Given the description of an element on the screen output the (x, y) to click on. 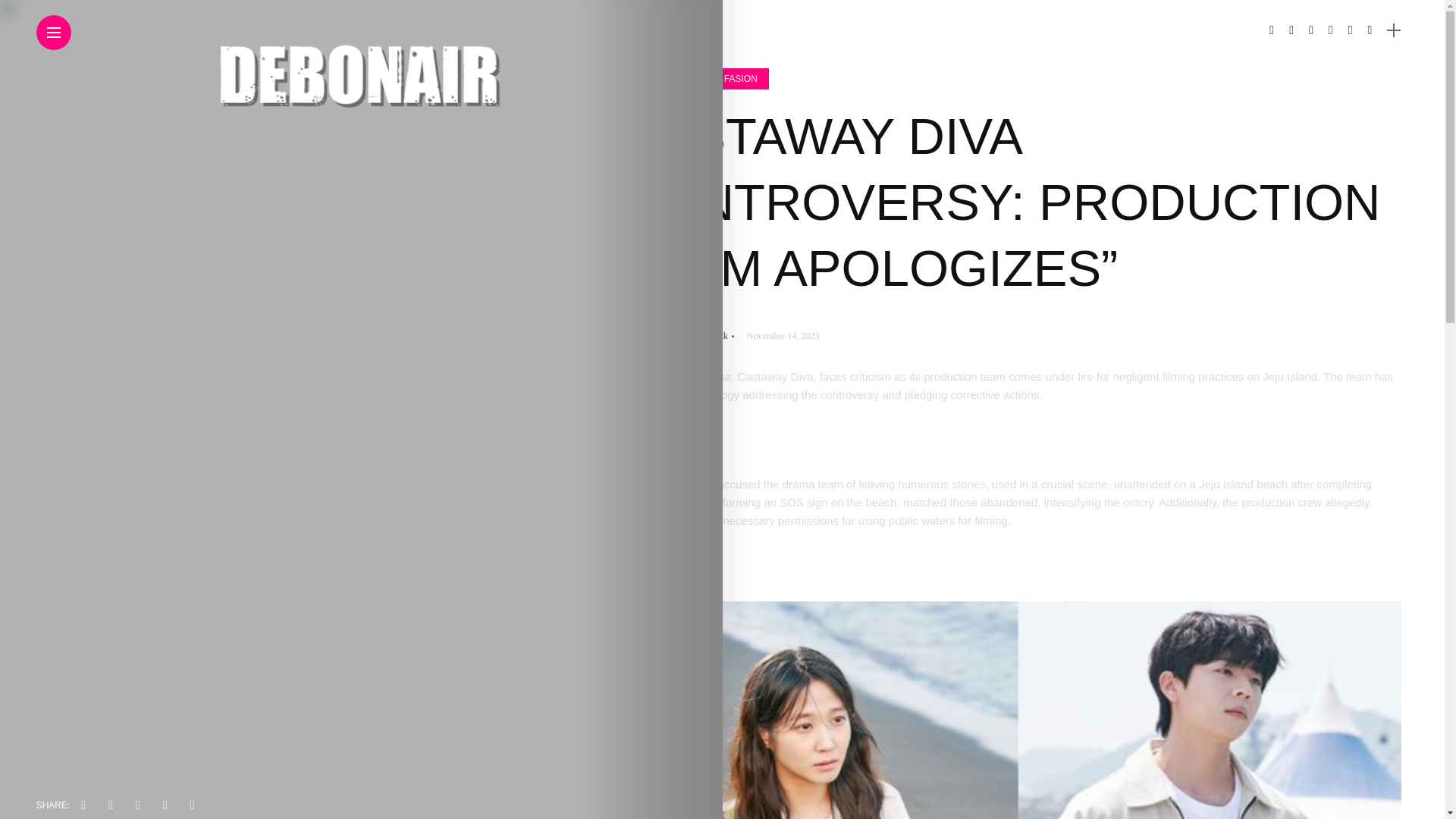
Posts by Editorial Desk (697, 335)
Editorial Desk (697, 335)
